Given the description of an element on the screen output the (x, y) to click on. 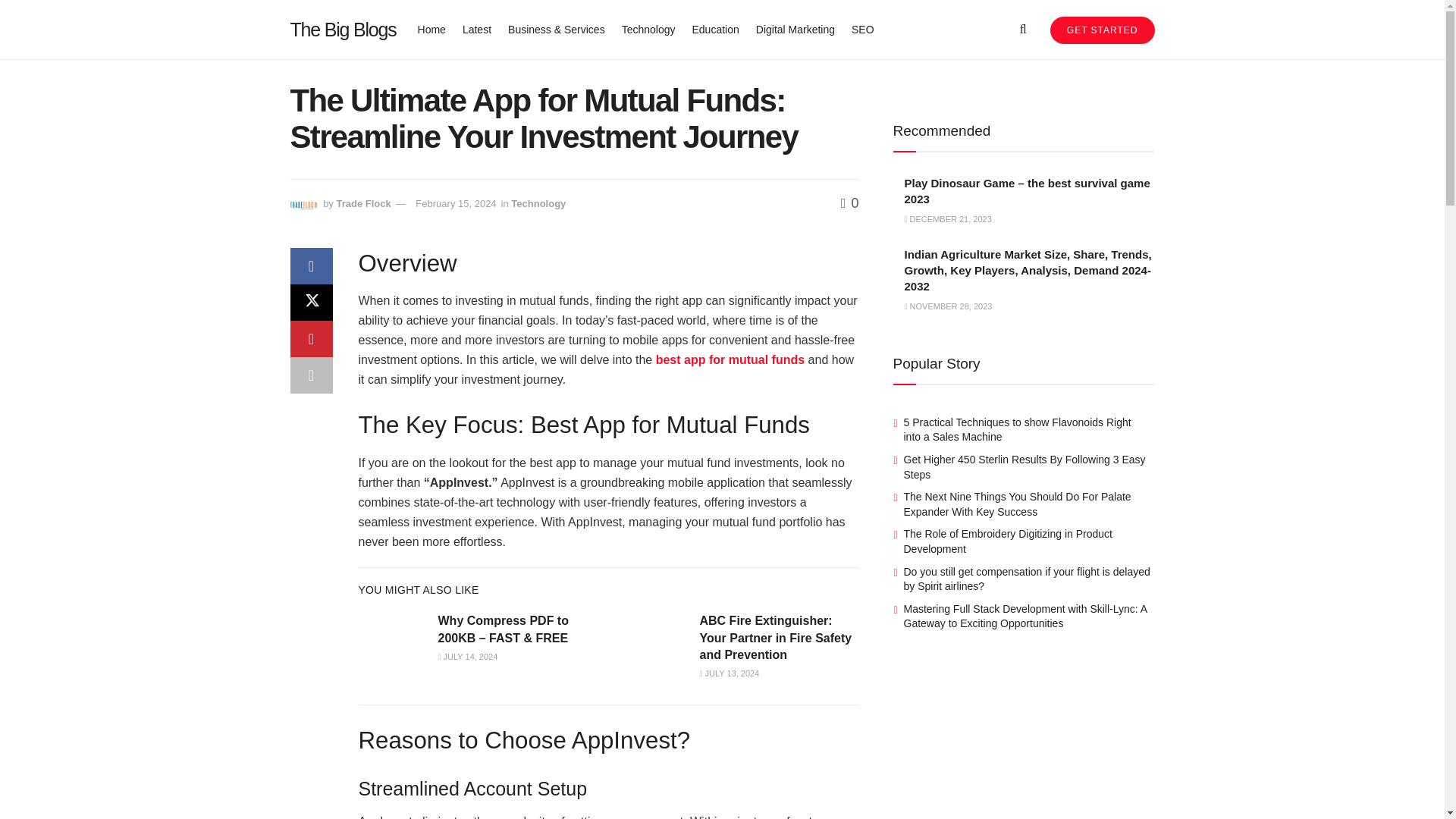
JULY 14, 2024 (467, 655)
Trade Flock (363, 203)
best app for mutual funds (730, 359)
Technology (648, 29)
Digital Marketing (794, 29)
Education (714, 29)
February 15, 2024 (455, 203)
GET STARTED (1101, 30)
SEO (863, 29)
0 (850, 202)
